Given the description of an element on the screen output the (x, y) to click on. 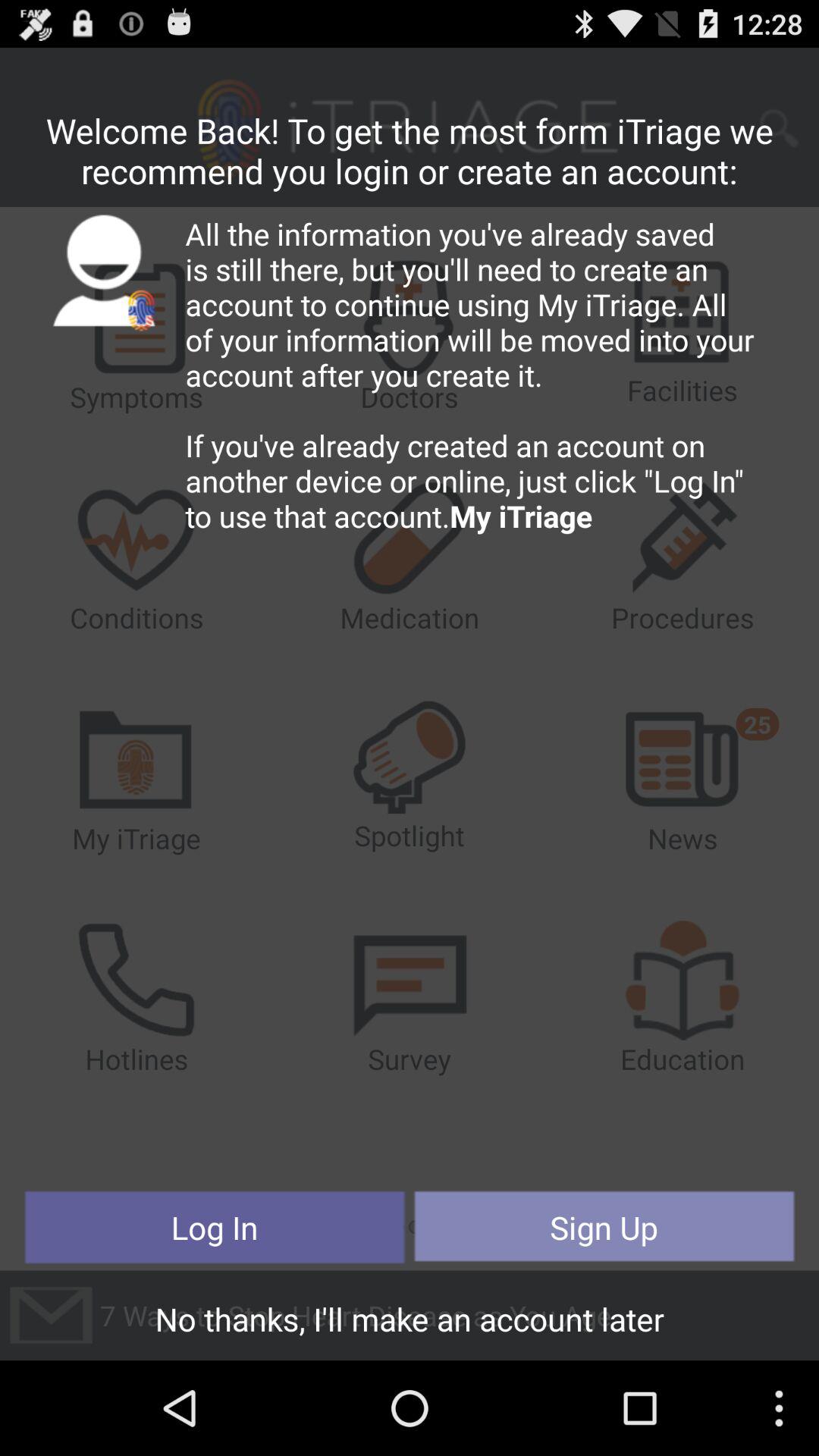
launch the log in icon (214, 1227)
